Given the description of an element on the screen output the (x, y) to click on. 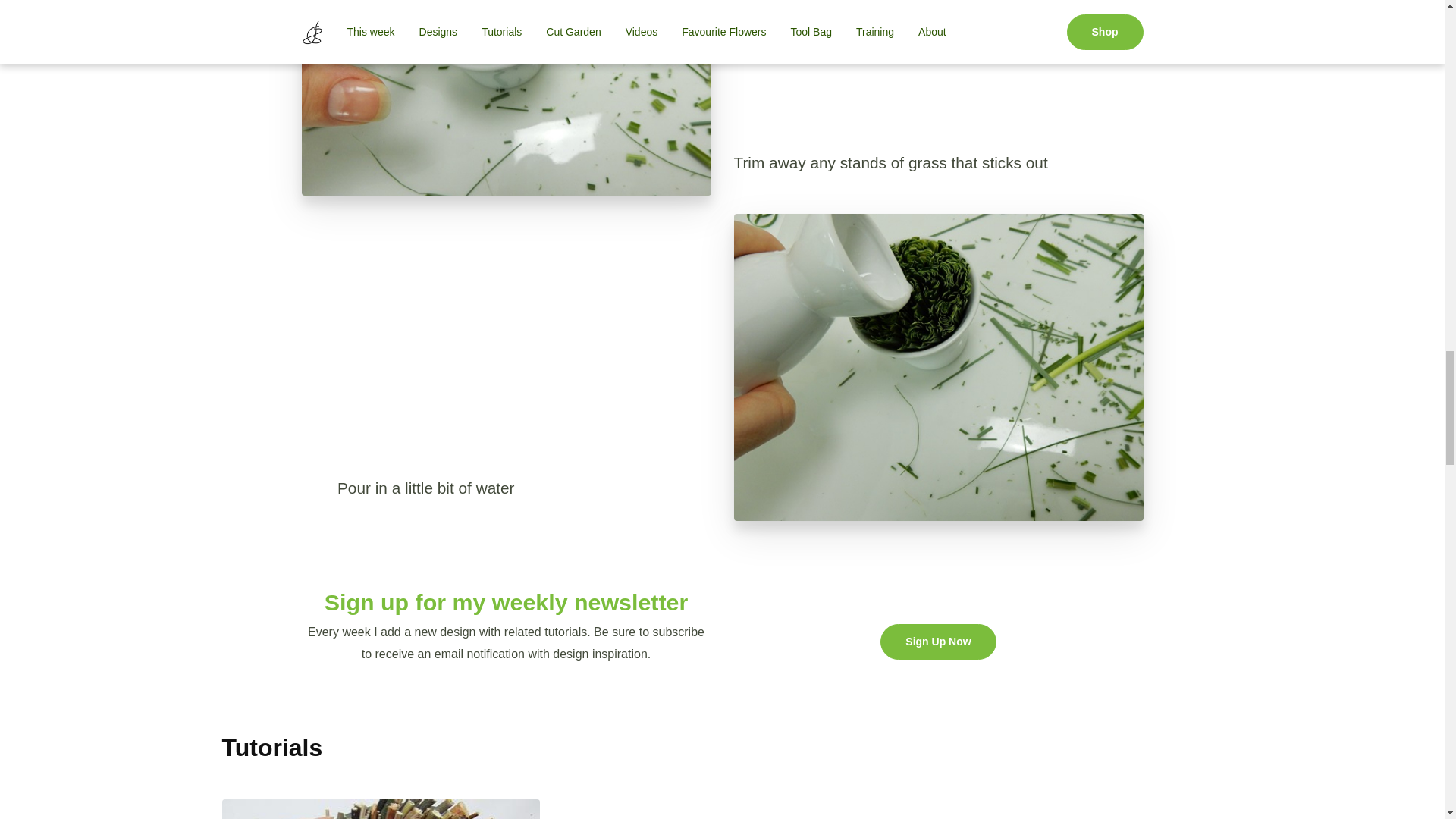
Trim away any stands of grass (506, 97)
Sign Up Now (937, 642)
Sign up for my weekly newsletter (506, 603)
Pour in a little bit of water (937, 366)
Spiral twig frog  (380, 809)
